Given the description of an element on the screen output the (x, y) to click on. 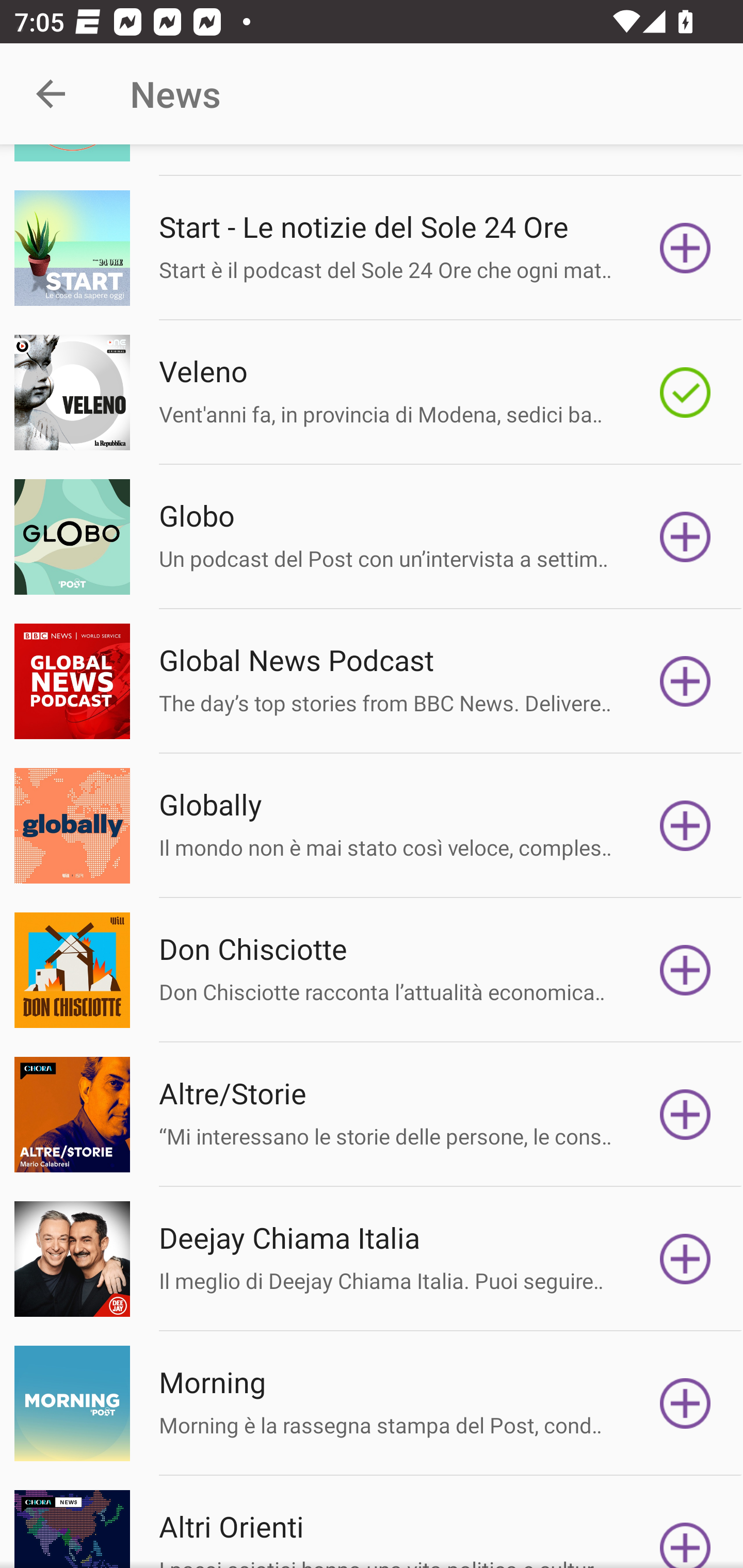
Navigate up (50, 93)
Subscribe (685, 247)
Subscribed (685, 391)
Subscribe (685, 536)
Subscribe (685, 681)
Subscribe (685, 825)
Subscribe (685, 970)
Subscribe (685, 1114)
Subscribe (685, 1259)
Subscribe (685, 1403)
Subscribe (685, 1528)
